Given the description of an element on the screen output the (x, y) to click on. 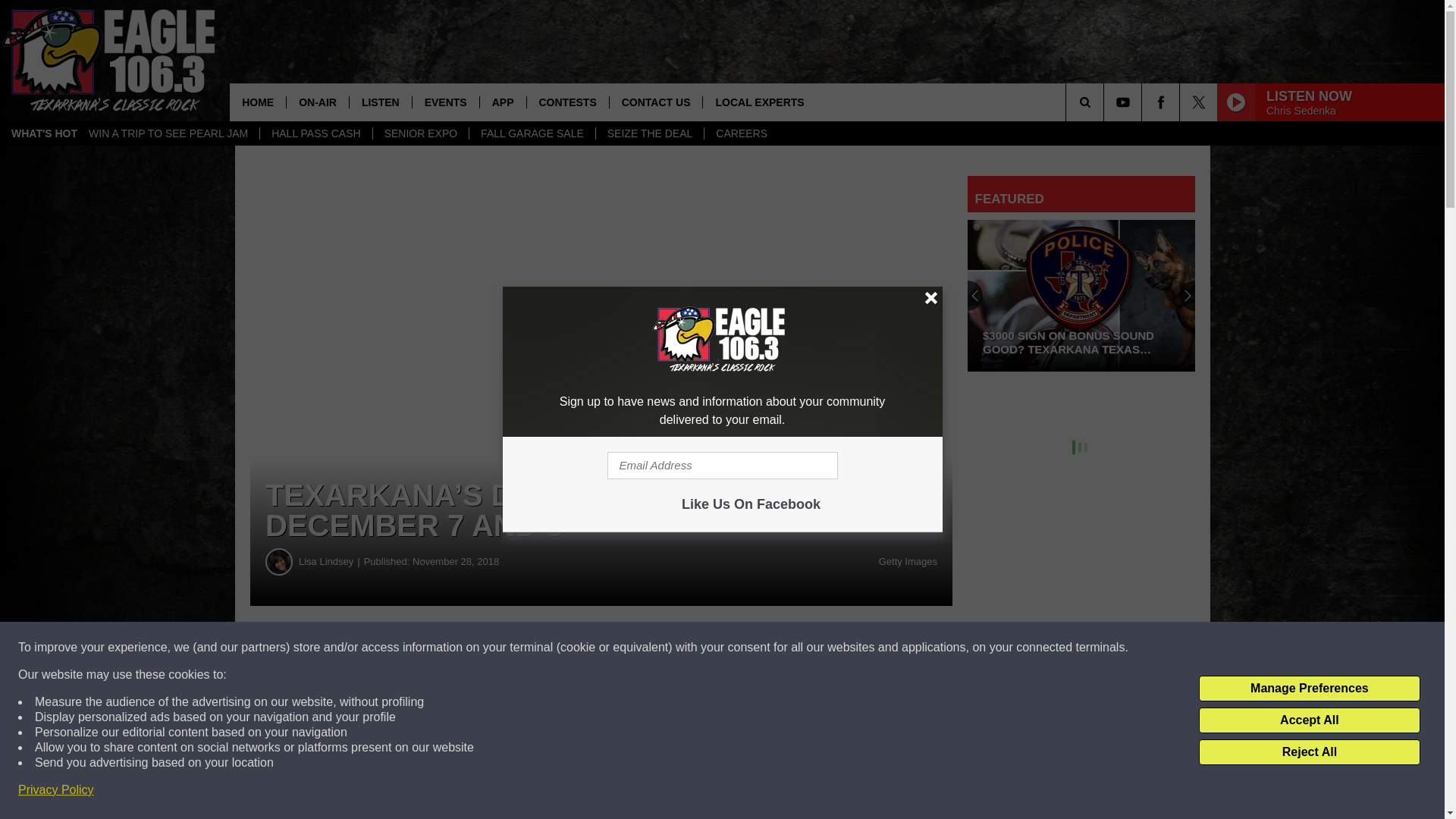
Manage Preferences (1309, 688)
Share on Twitter (741, 647)
EVENTS (445, 102)
HOME (257, 102)
SEIZE THE DEAL (649, 133)
Accept All (1309, 720)
Share on Facebook (460, 647)
Reject All (1309, 751)
CONTESTS (566, 102)
SENIOR EXPO (420, 133)
FALL GARAGE SALE (531, 133)
CONTACT US (655, 102)
SEARCH (1106, 102)
WIN A TRIP TO SEE PEARL JAM (168, 133)
ON-AIR (317, 102)
